Given the description of an element on the screen output the (x, y) to click on. 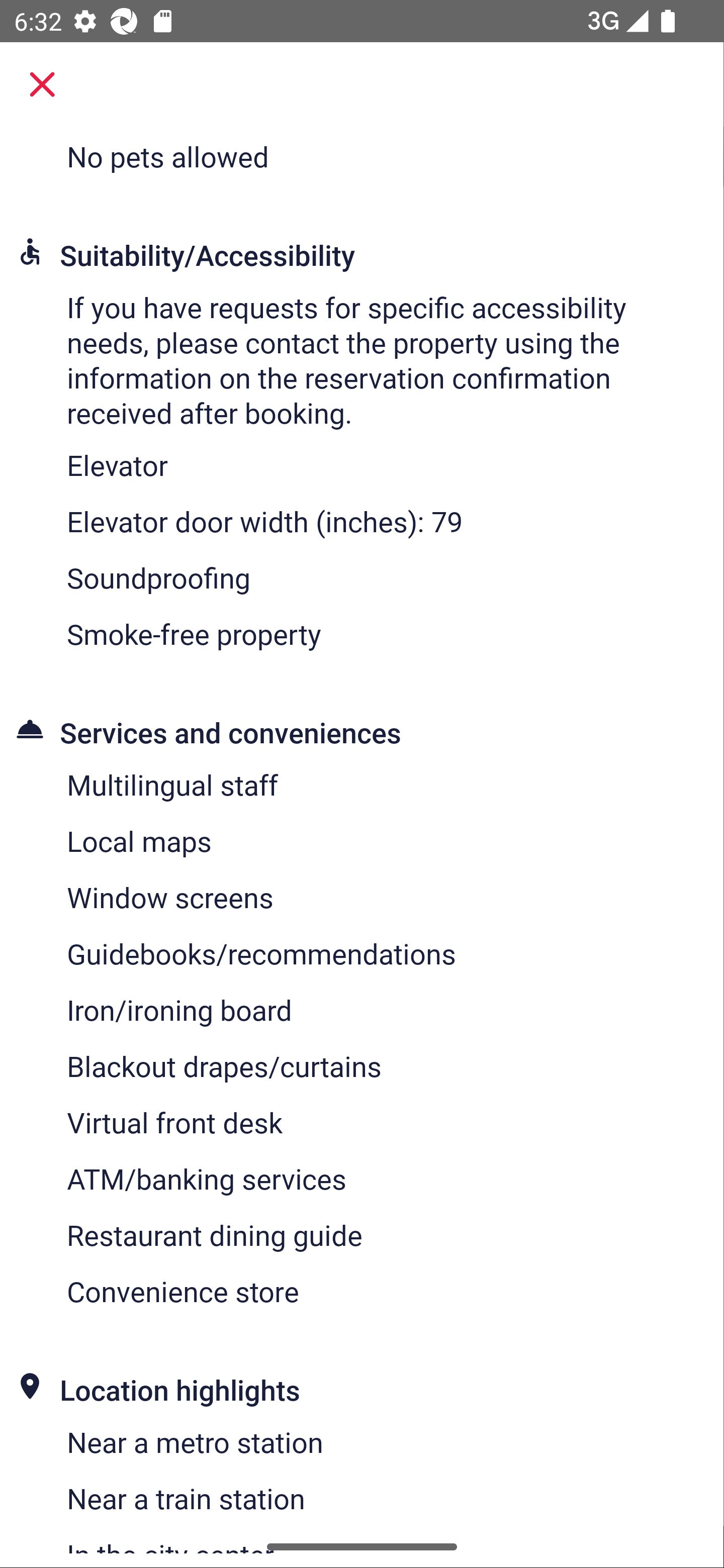
Close (42, 84)
